Given the description of an element on the screen output the (x, y) to click on. 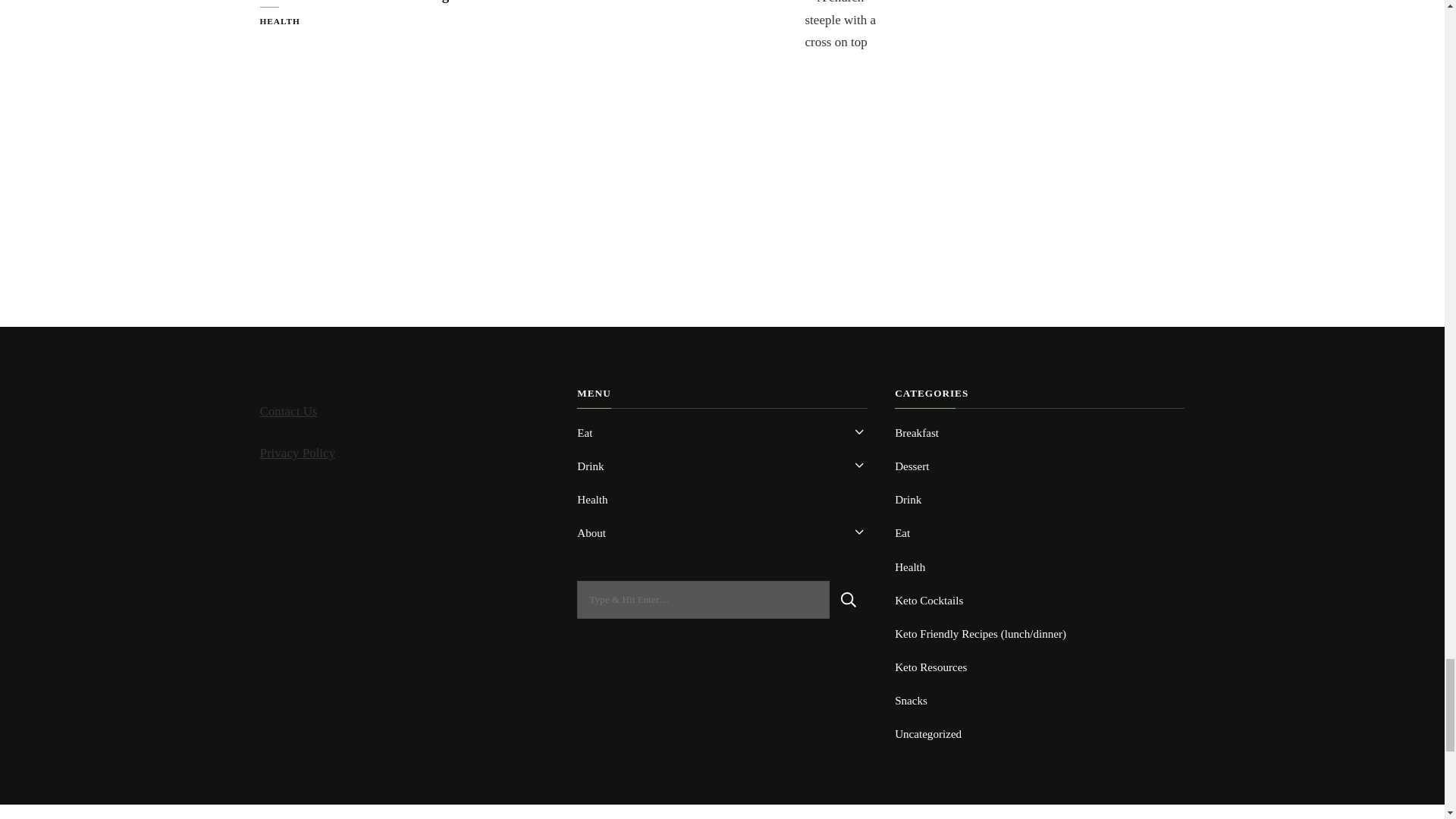
Search (848, 599)
Search (848, 599)
